Given the description of an element on the screen output the (x, y) to click on. 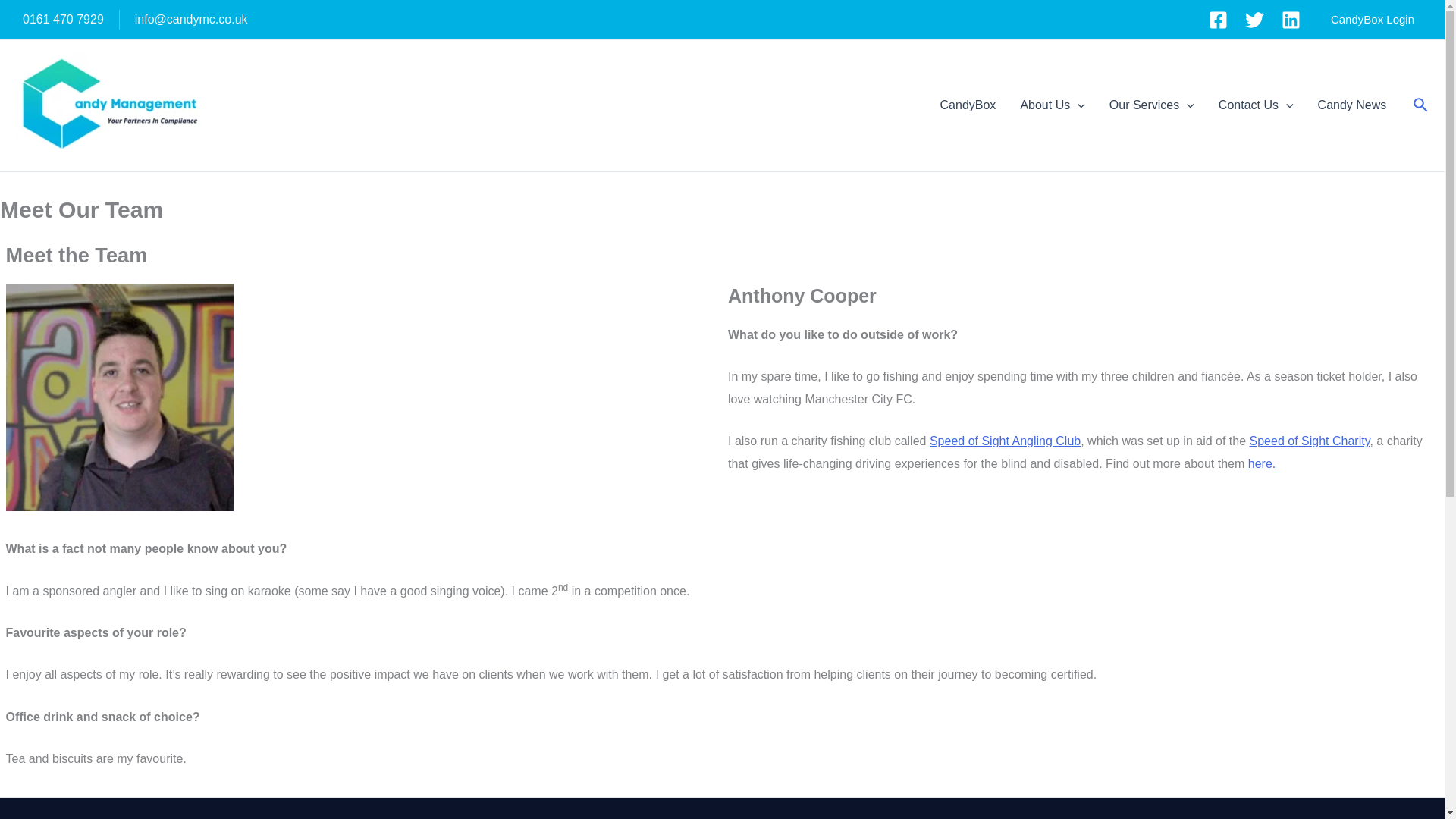
CandyBox (968, 105)
Candy News (1352, 105)
CandyBox Login (1372, 19)
Our Services (1152, 105)
Contact Us (1256, 105)
About Us (1051, 105)
